Given the description of an element on the screen output the (x, y) to click on. 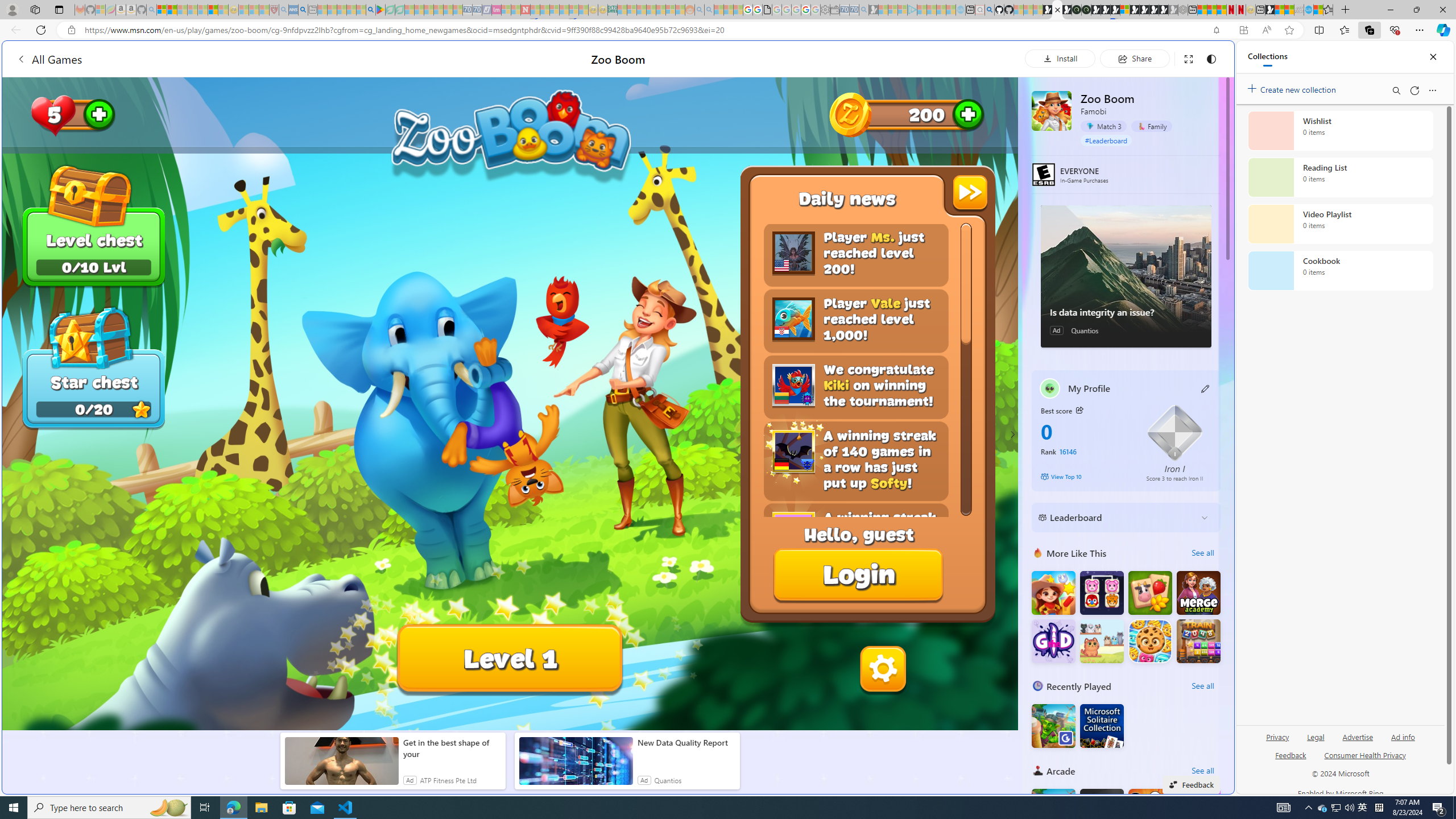
Frequently visited (965, 151)
ATP Fitness Pte Ltd (448, 779)
Home | Sky Blue Bikes - Sky Blue Bikes (1118, 242)
Play Cave FRVR in your browser | Games from Microsoft Start (1105, 9)
MSN (1269, 9)
Latest Politics News & Archive | Newsweek.com - Sleeping (525, 9)
